Given the description of an element on the screen output the (x, y) to click on. 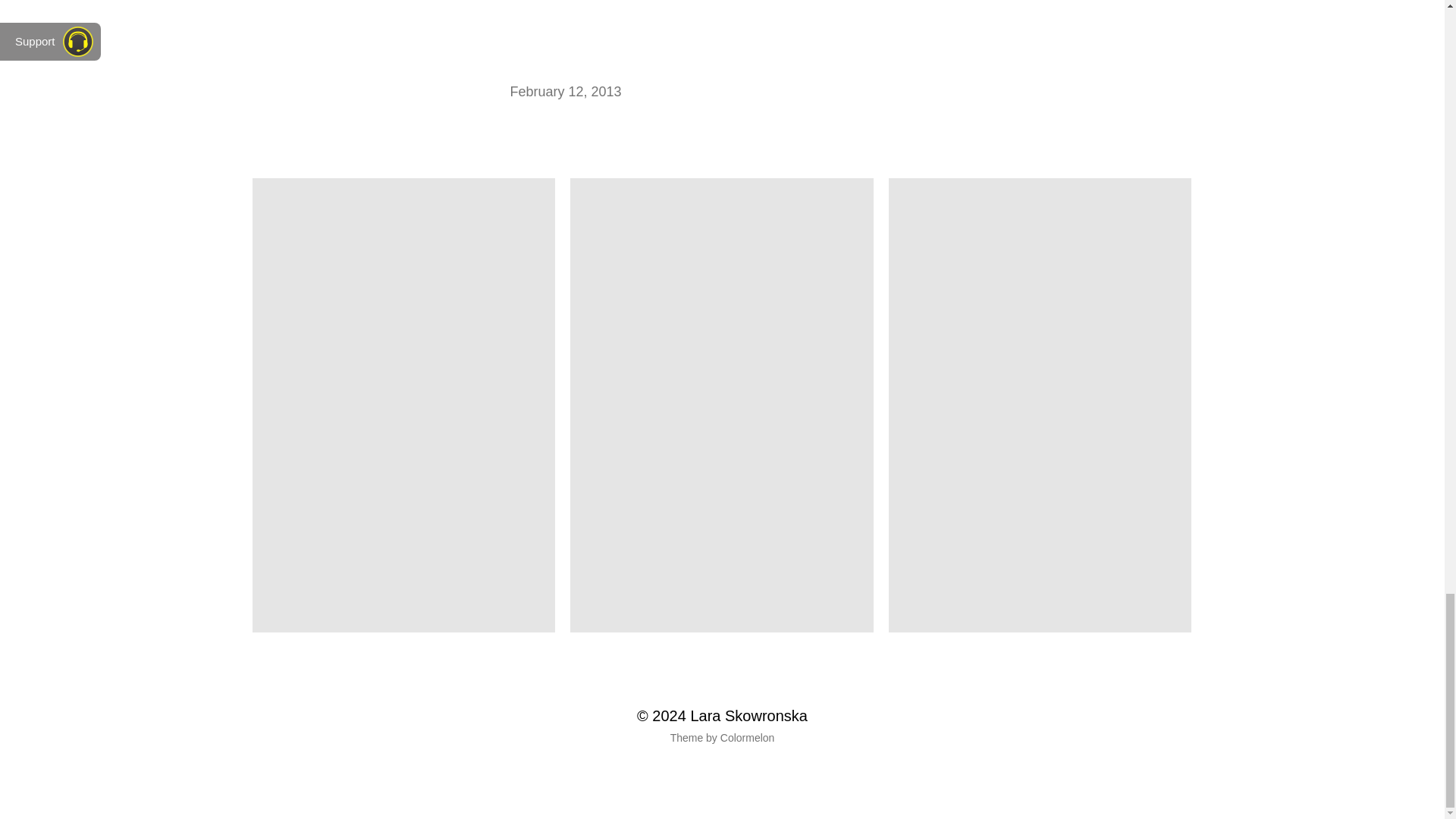
Colormelon (747, 738)
February 12, 2013 (565, 91)
Lara Skowronska (749, 715)
